Given the description of an element on the screen output the (x, y) to click on. 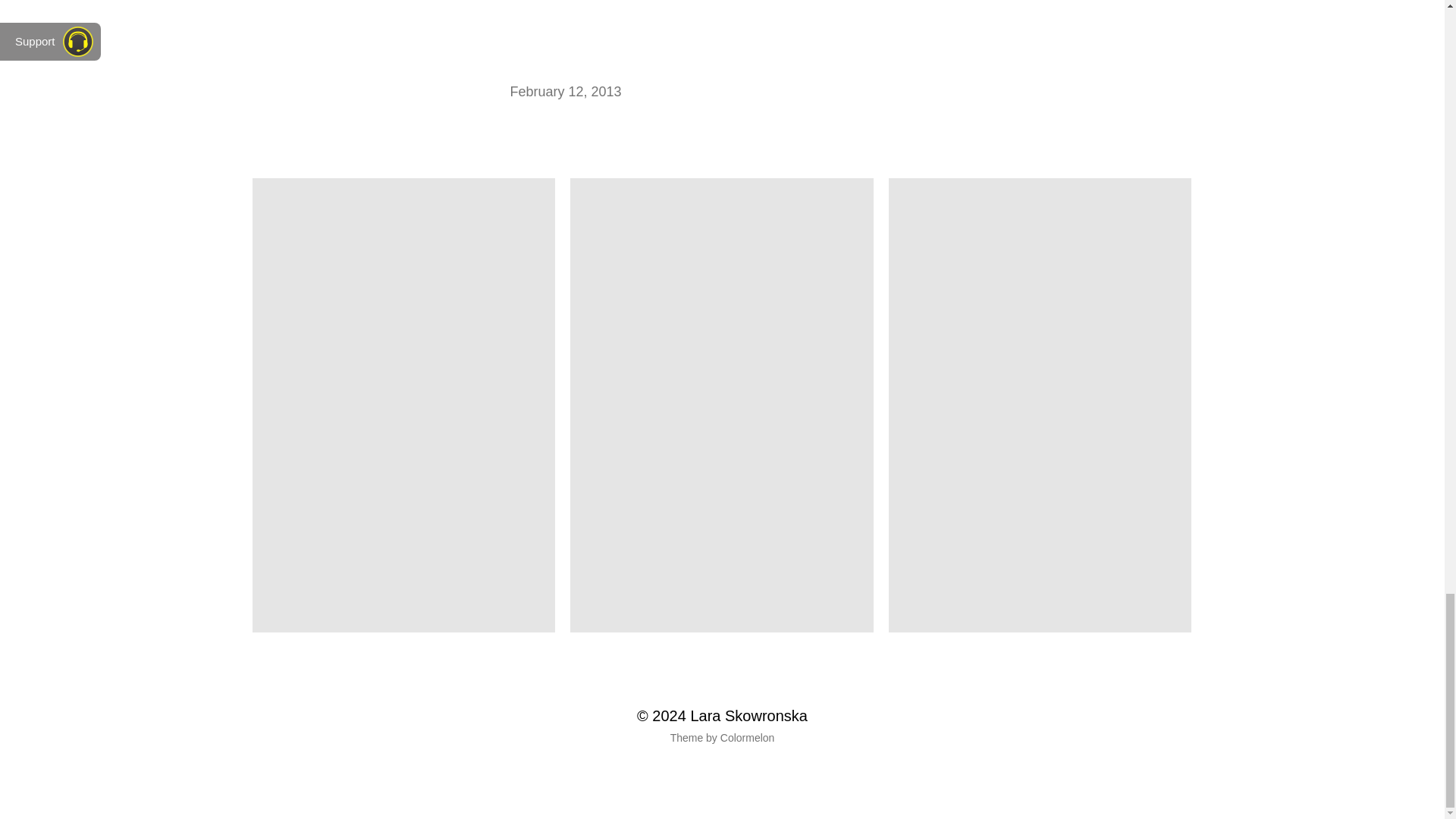
Colormelon (747, 738)
February 12, 2013 (565, 91)
Lara Skowronska (749, 715)
